Given the description of an element on the screen output the (x, y) to click on. 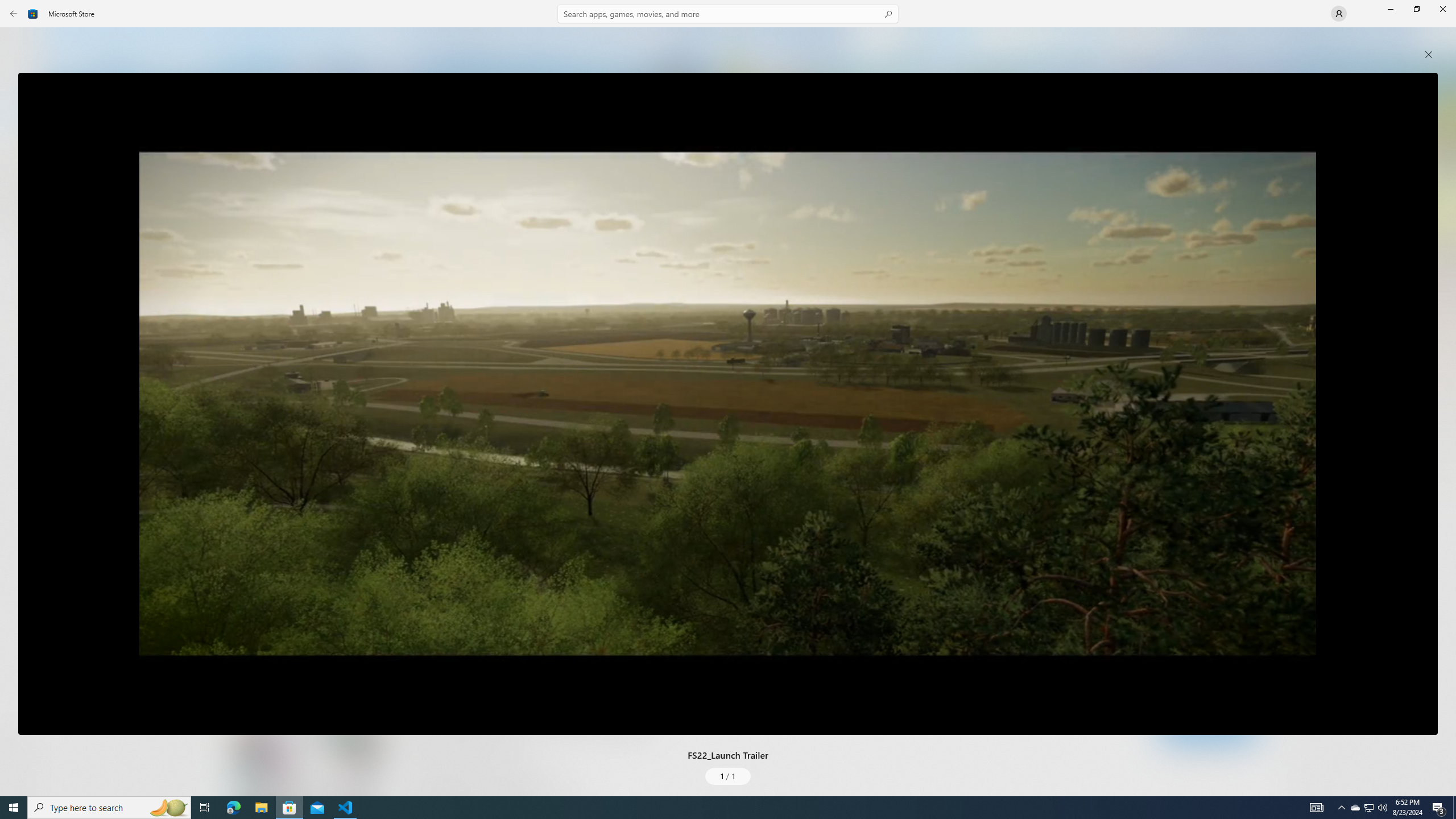
Search (727, 13)
FS22_Launch Trailer (727, 403)
Play with Game Pass (436, 649)
AutomationID: PosterImage (727, 403)
Farming Simulator 22 PC, Edition selector (449, 610)
2022 (379, 510)
4.3 stars. Click to skip to ratings and reviews (392, 541)
GIANTS Software GmbH (427, 510)
Share (1267, 669)
Buy (568, 649)
